Given the description of an element on the screen output the (x, y) to click on. 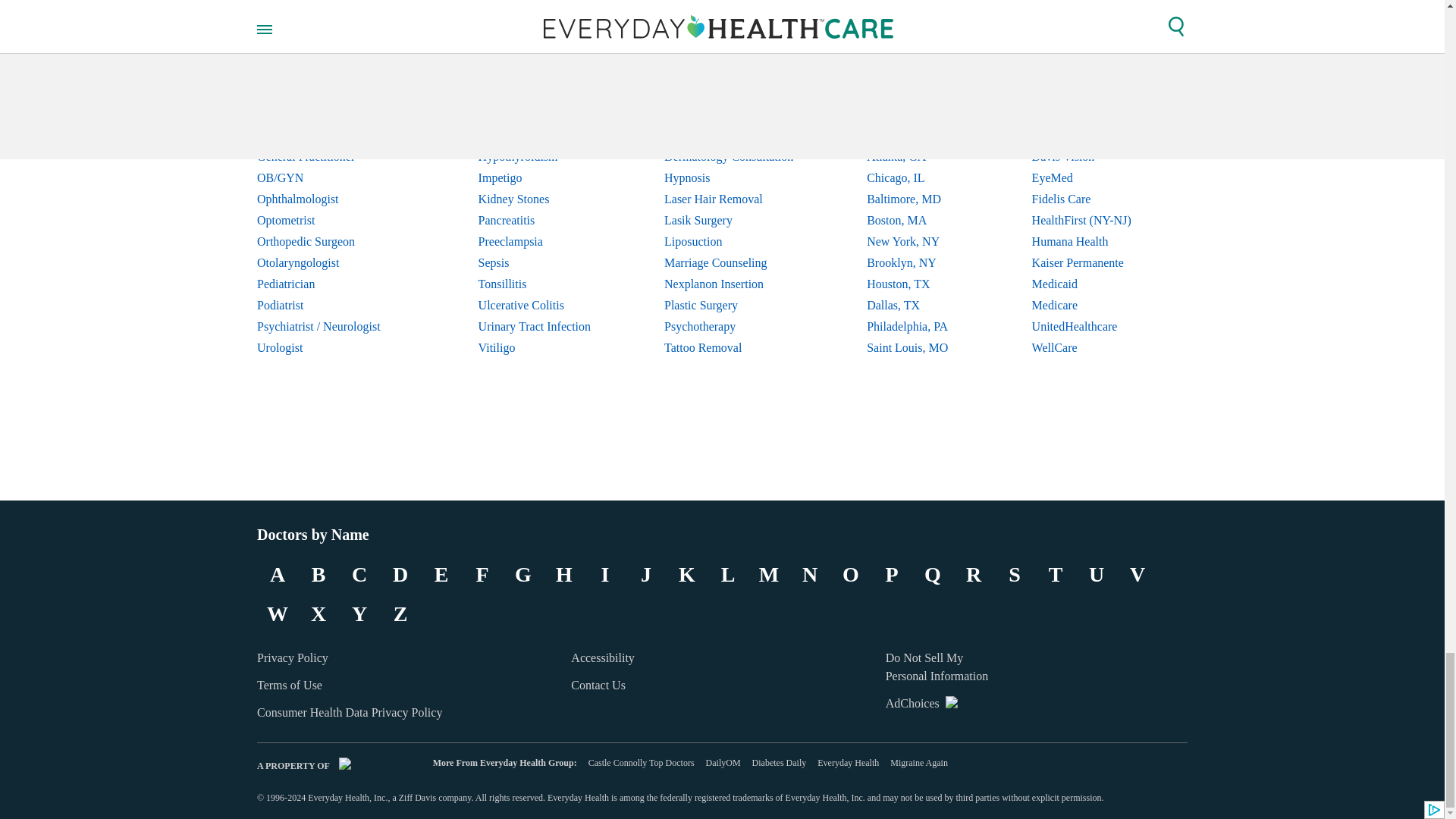
Dermatologist (330, 93)
Addiction Medicine Specialist (330, 50)
Gastroenterologist (330, 135)
Ophthalmologist (330, 199)
Cardiologist (330, 71)
General Practitioner (330, 156)
Endocrinologist (330, 114)
Optometrist (330, 219)
